Given the description of an element on the screen output the (x, y) to click on. 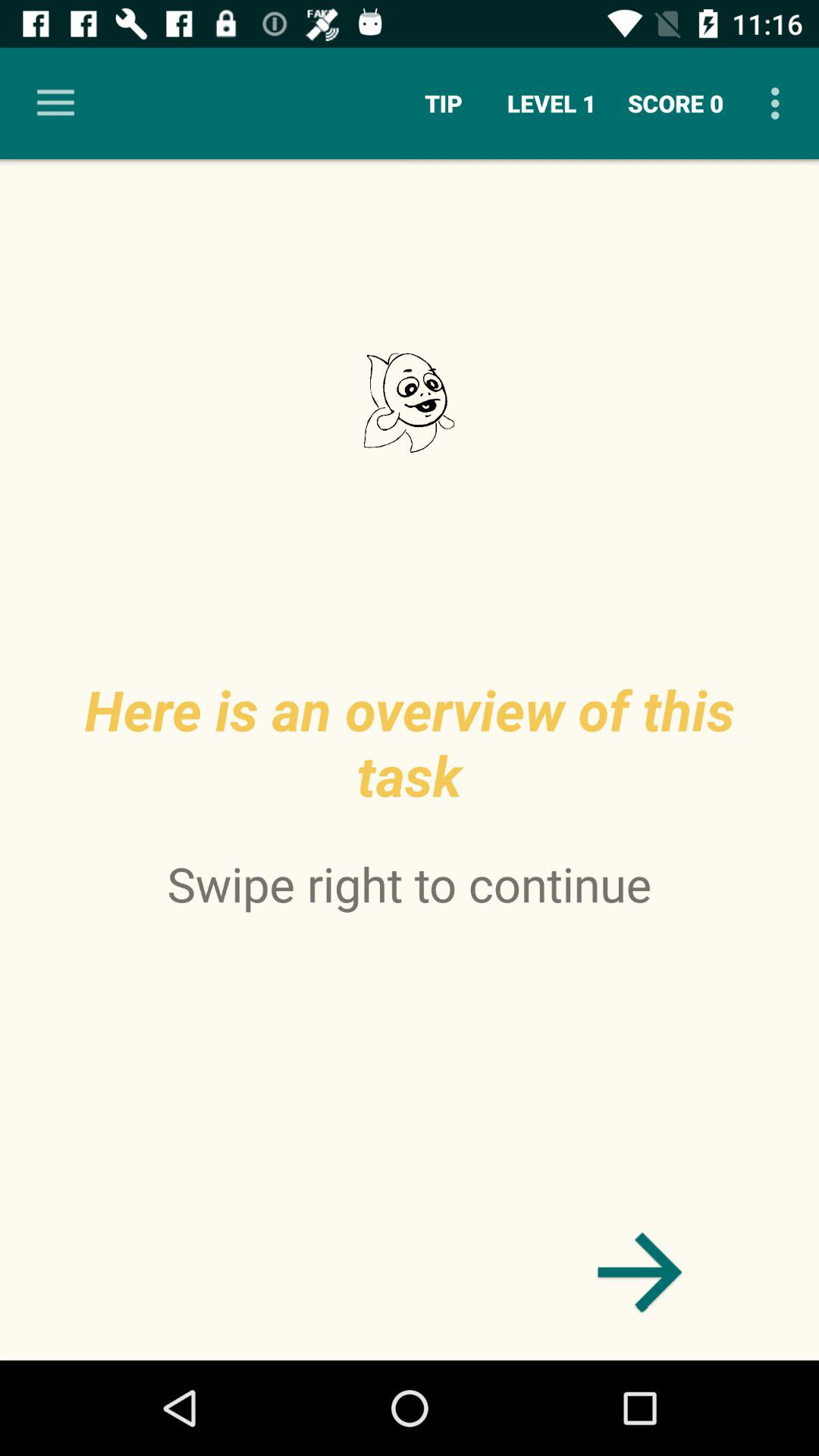
click item next to the level 1 icon (675, 103)
